Given the description of an element on the screen output the (x, y) to click on. 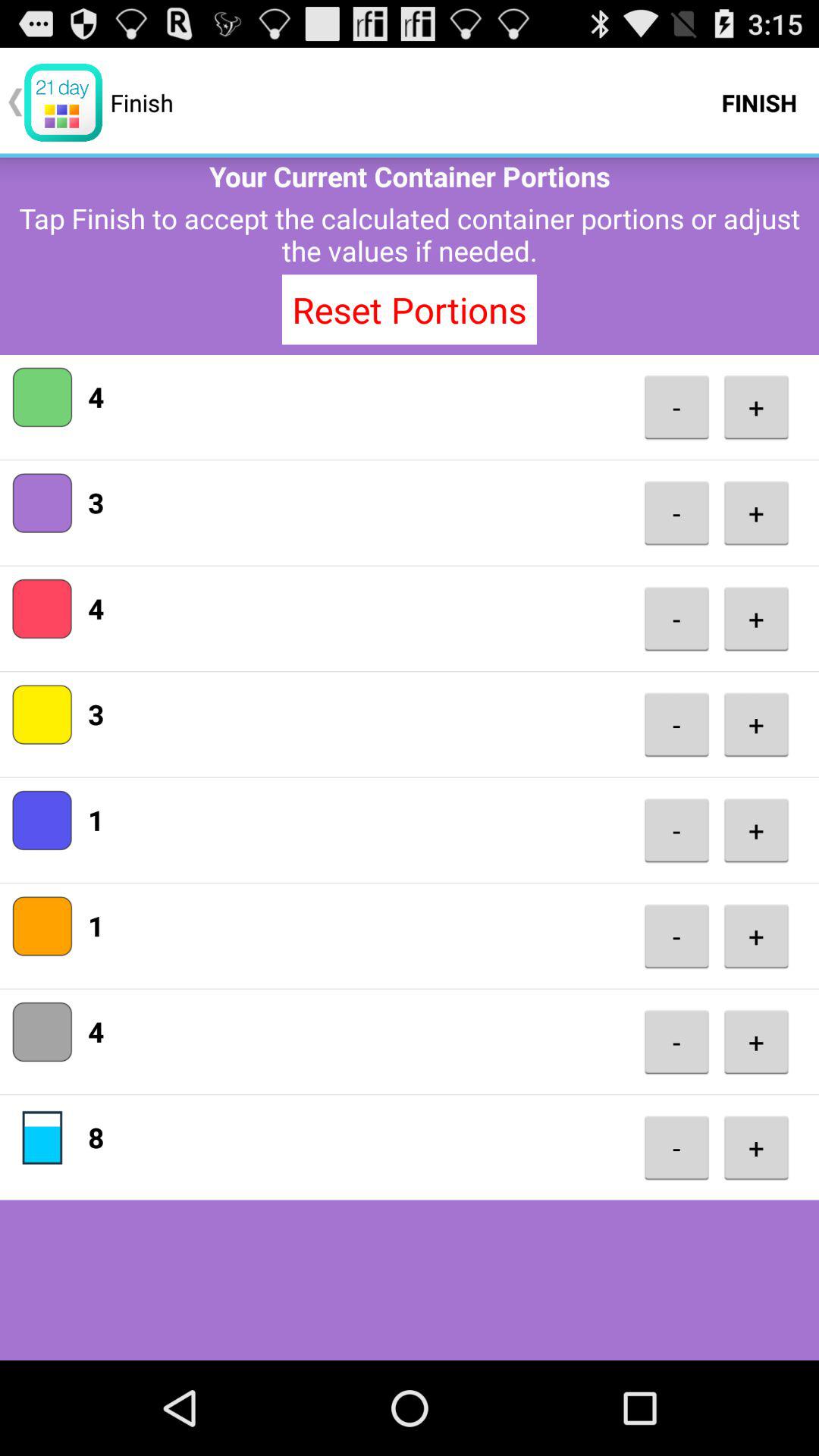
scroll until - button (676, 407)
